Given the description of an element on the screen output the (x, y) to click on. 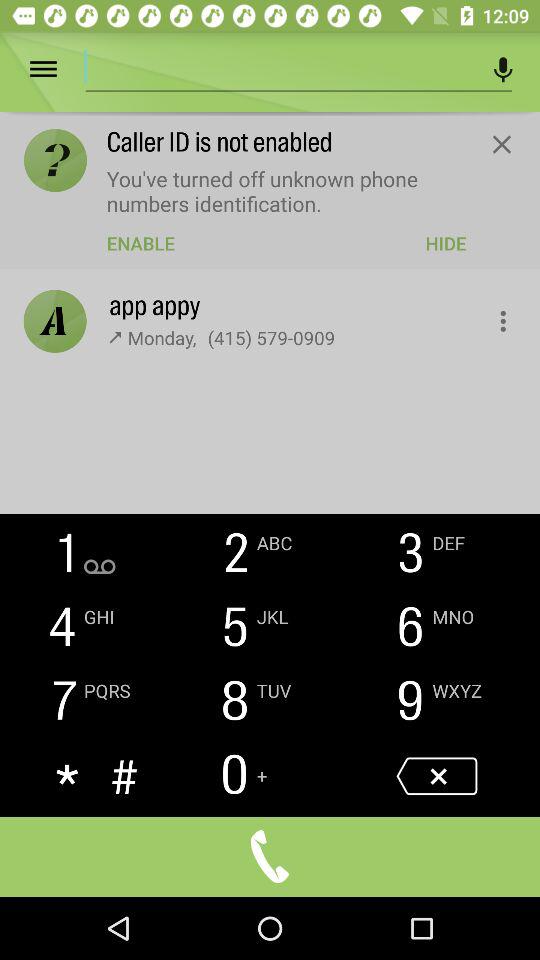
make a call (270, 856)
